Given the description of an element on the screen output the (x, y) to click on. 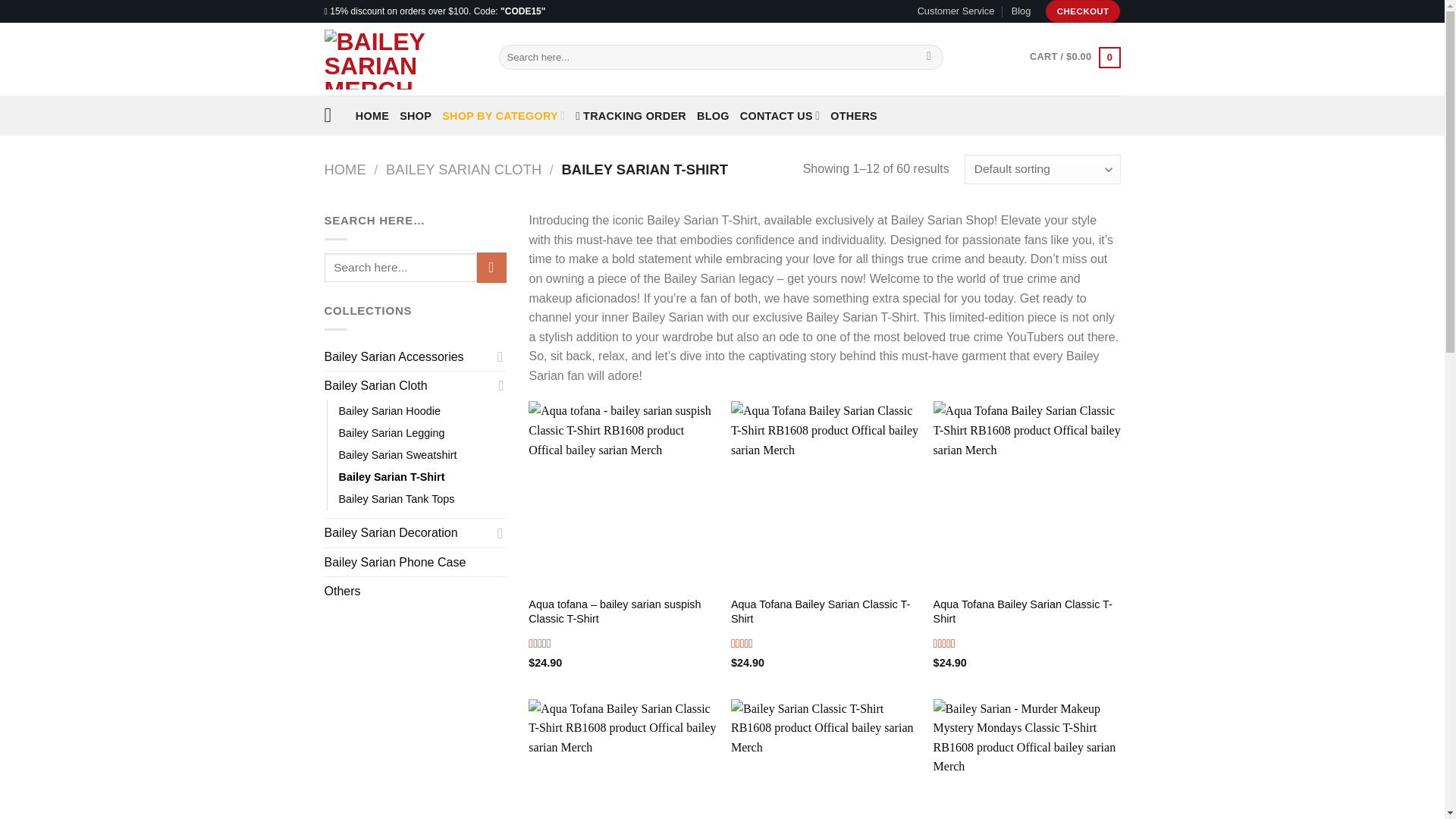
SHOP (414, 115)
SHOP BY CATEGORY (503, 115)
Cart (1074, 56)
Customer Service (955, 11)
Search (929, 57)
CHECKOUT (1083, 11)
HOME (371, 115)
